Given the description of an element on the screen output the (x, y) to click on. 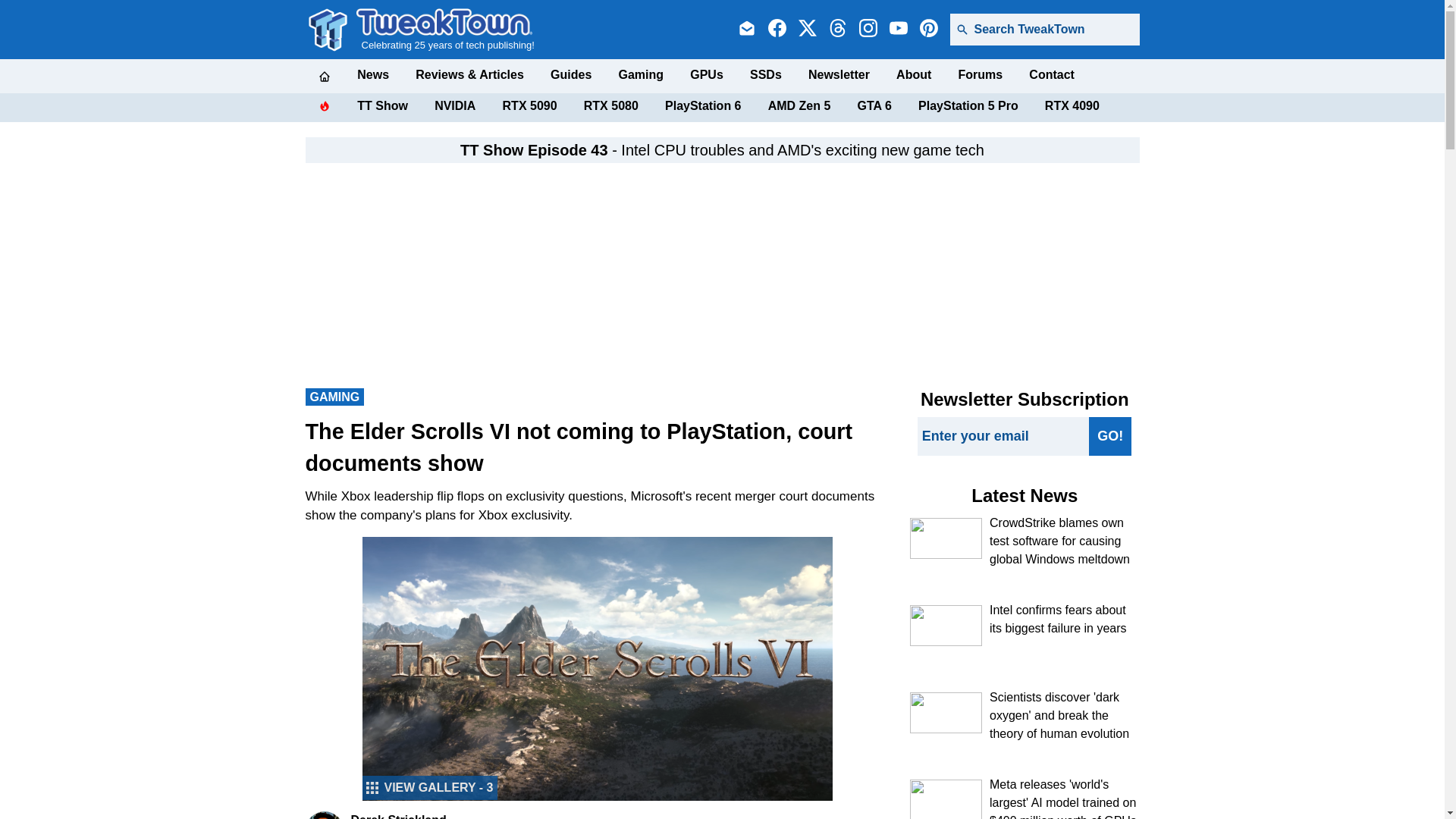
Celebrating 25 years of tech publishing! (445, 29)
News (372, 74)
Open Gallery (429, 787)
Derek Strickland (323, 815)
GO! (1110, 435)
